Given the description of an element on the screen output the (x, y) to click on. 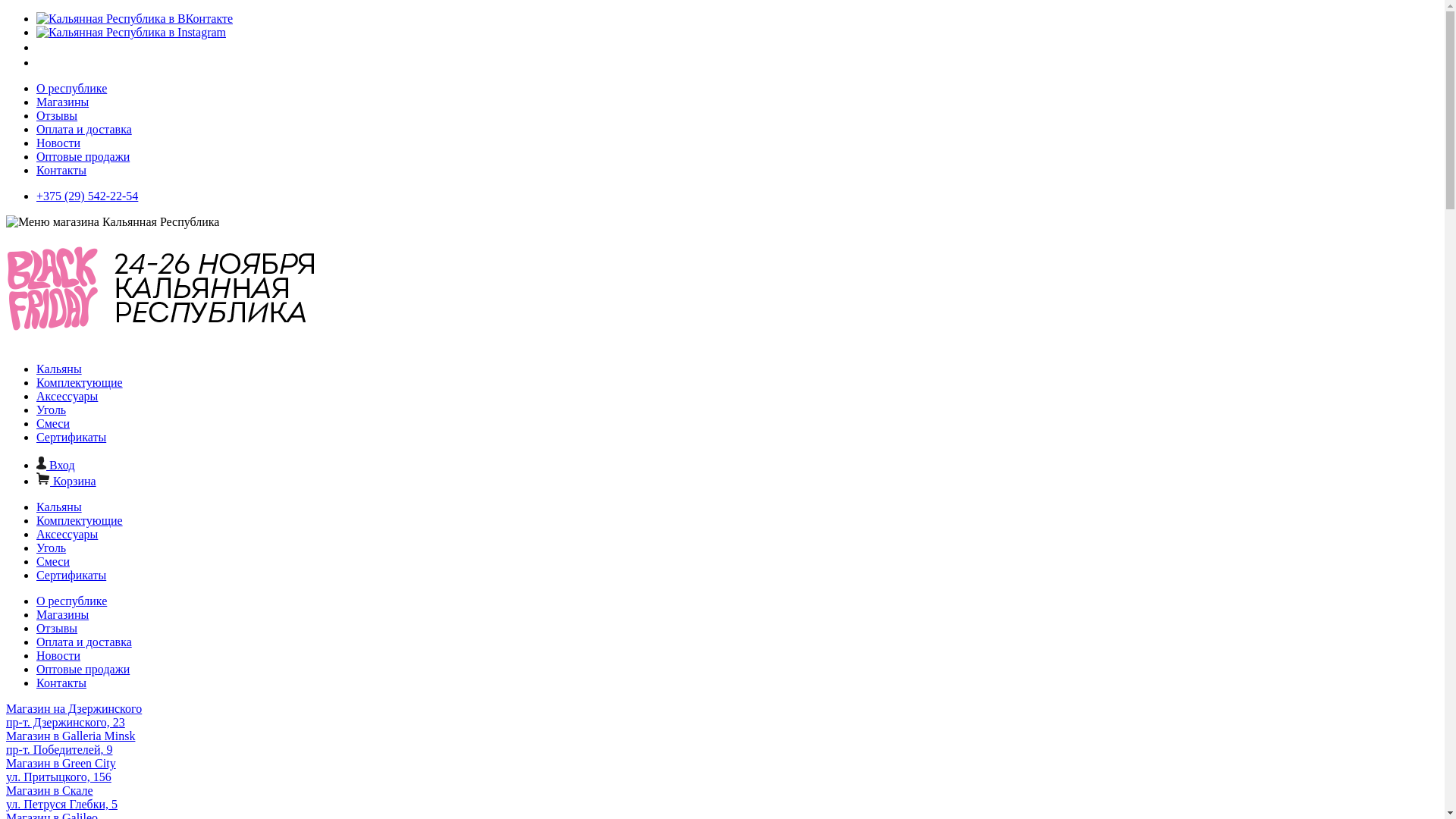
+375 (29) 542-22-54 Element type: text (87, 195)
